Given the description of an element on the screen output the (x, y) to click on. 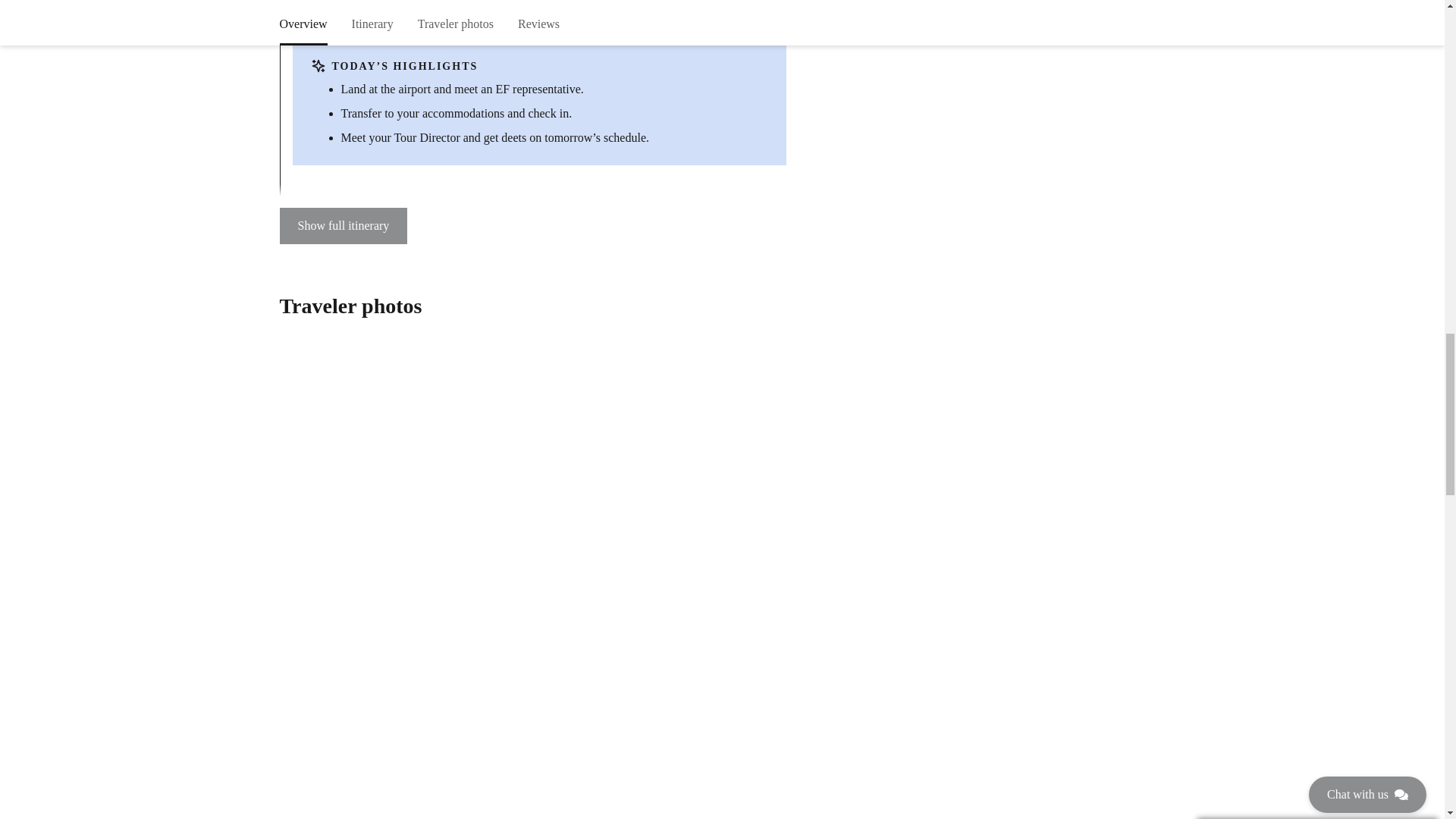
Show full itinerary (343, 226)
